Given the description of an element on the screen output the (x, y) to click on. 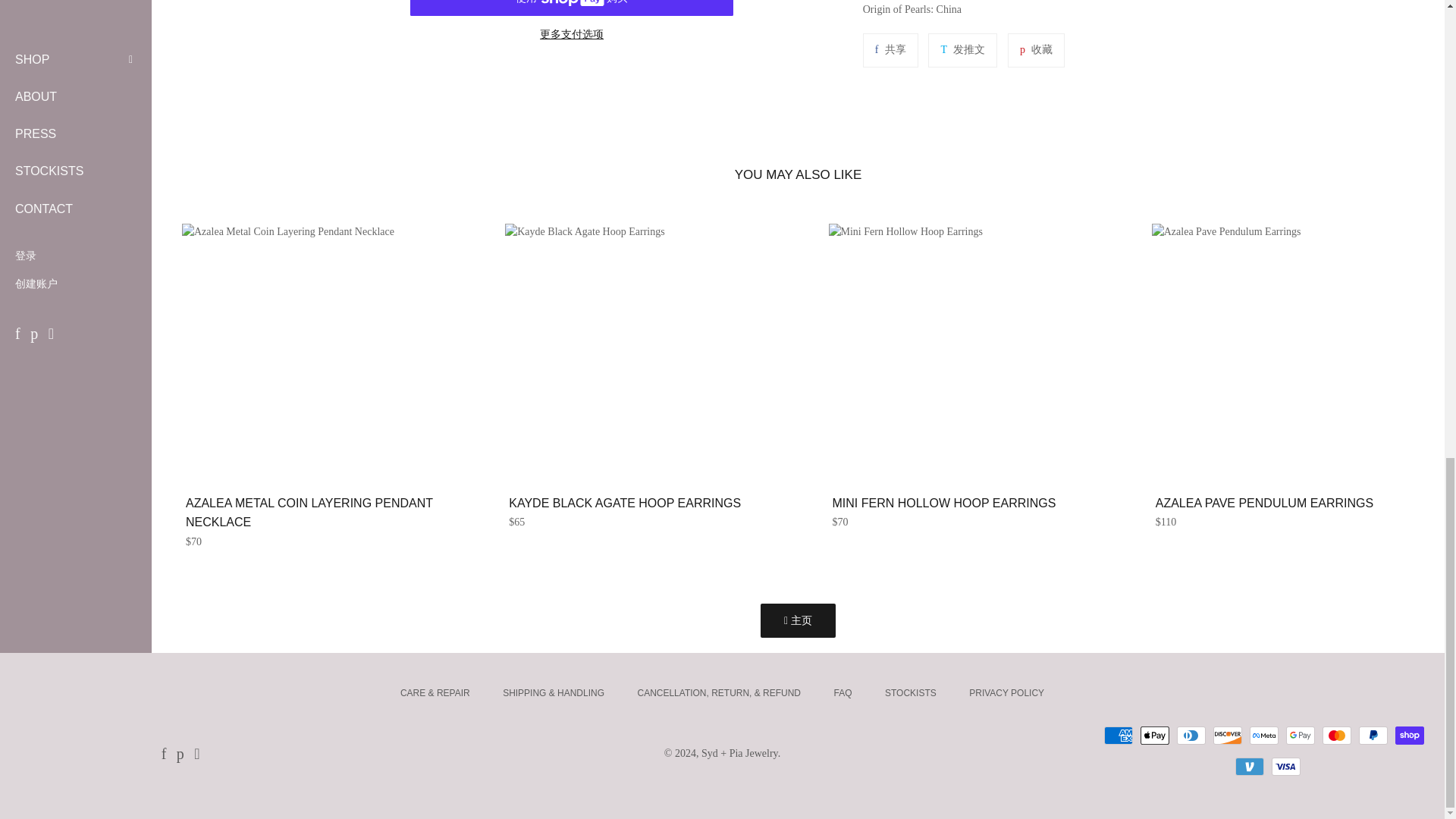
Apple Pay (1154, 735)
PayPal (1372, 735)
American Express (1117, 735)
Diners Club (1190, 735)
Shop Pay (1408, 735)
Meta Pay (1263, 735)
Discover (1226, 735)
Mastercard (1336, 735)
Venmo (1248, 766)
Visa (1285, 766)
Google Pay (1299, 735)
